Given the description of an element on the screen output the (x, y) to click on. 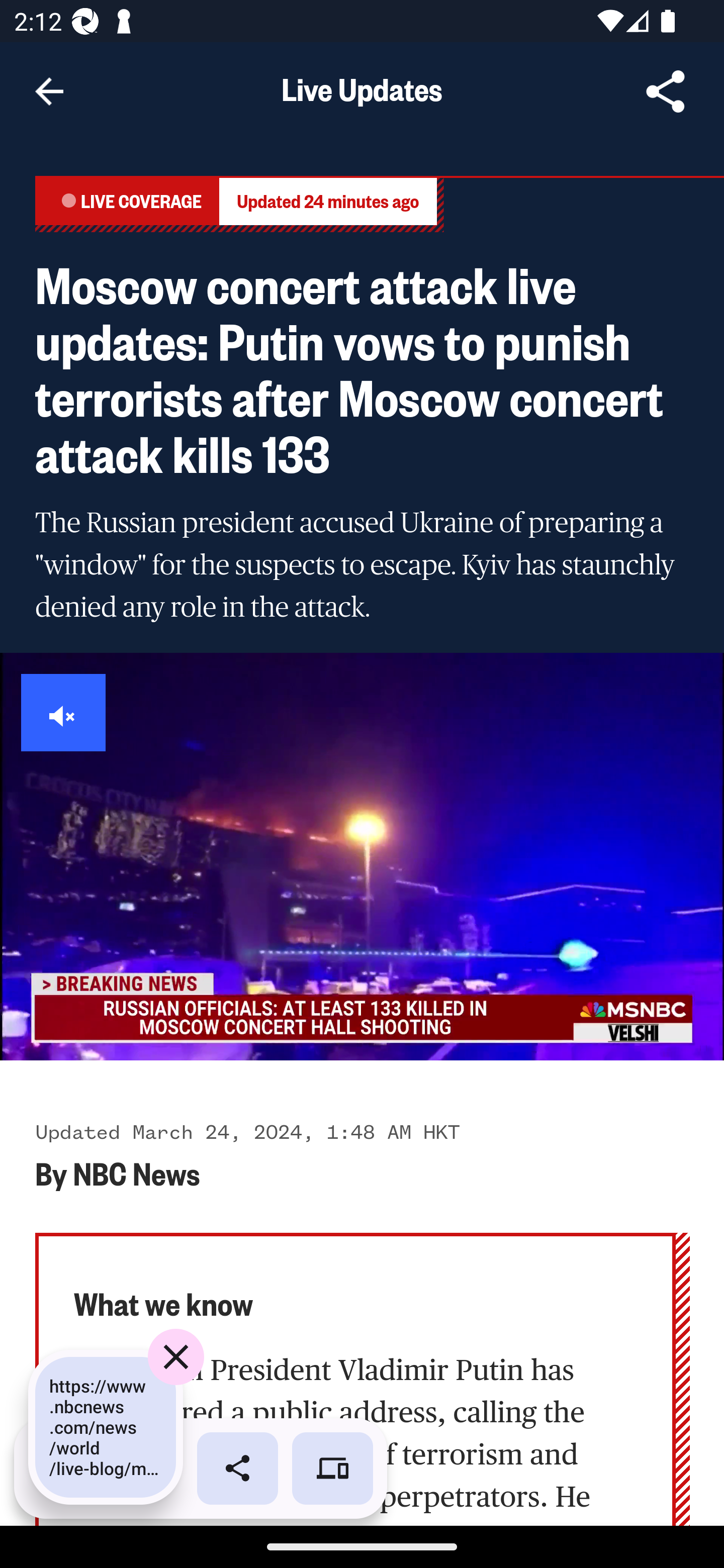
Navigate up (49, 91)
Share Article, button (665, 91)
 (63, 712)
